Given the description of an element on the screen output the (x, y) to click on. 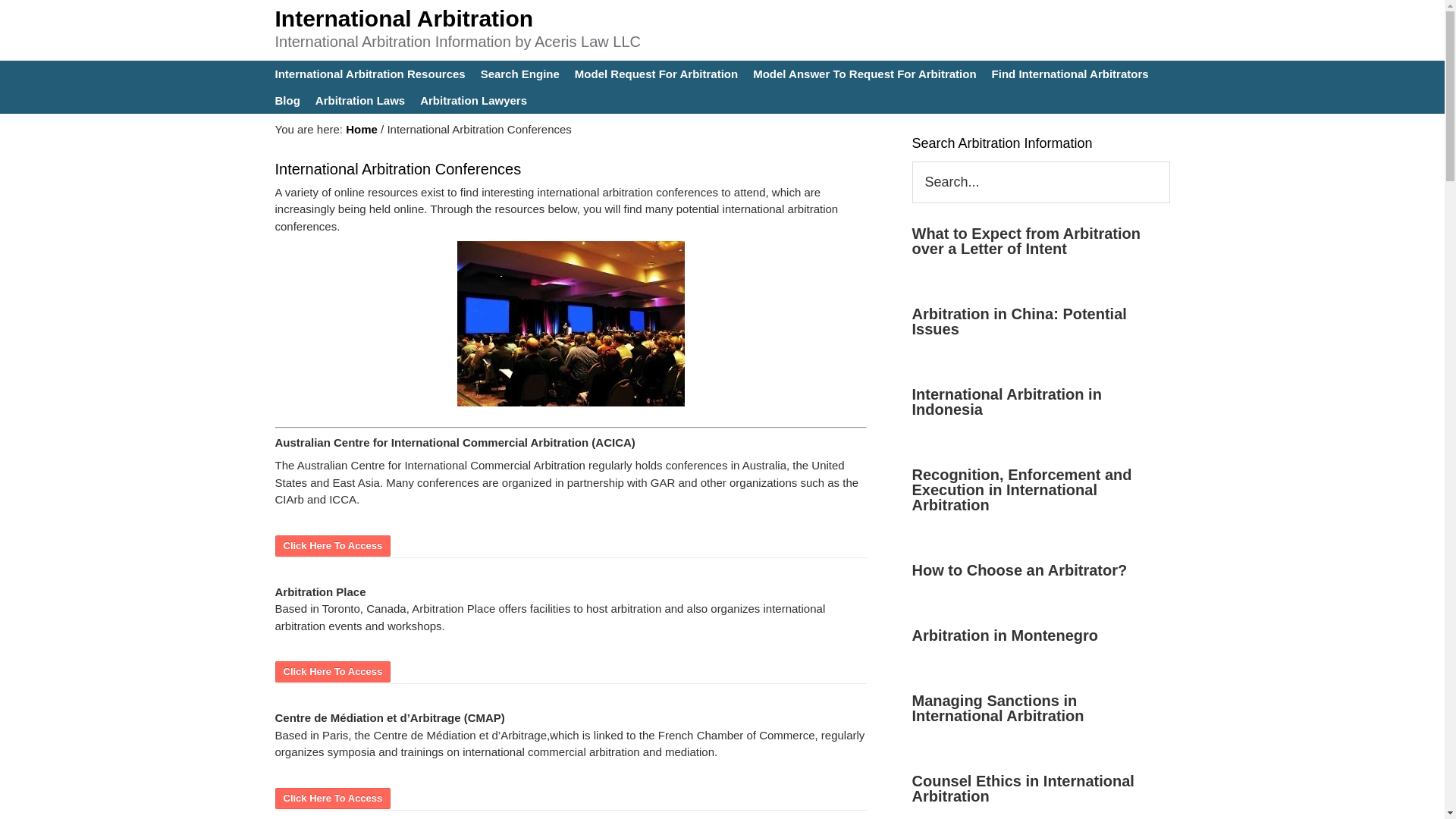
Click Here To Access (332, 543)
Model Request For Arbitration (656, 73)
Arbitration Laws (359, 99)
Click Here To Access (332, 670)
Click Here To Access (332, 796)
Click Here To Access (332, 796)
Managing Sanctions in International Arbitration (997, 707)
What to Expect from Arbitration over a Letter of Intent (1025, 241)
Find International Arbitrators (1070, 73)
International Arbitration (403, 18)
Arbitration Lawyers (473, 99)
International Arbitration Resources (368, 73)
